Given the description of an element on the screen output the (x, y) to click on. 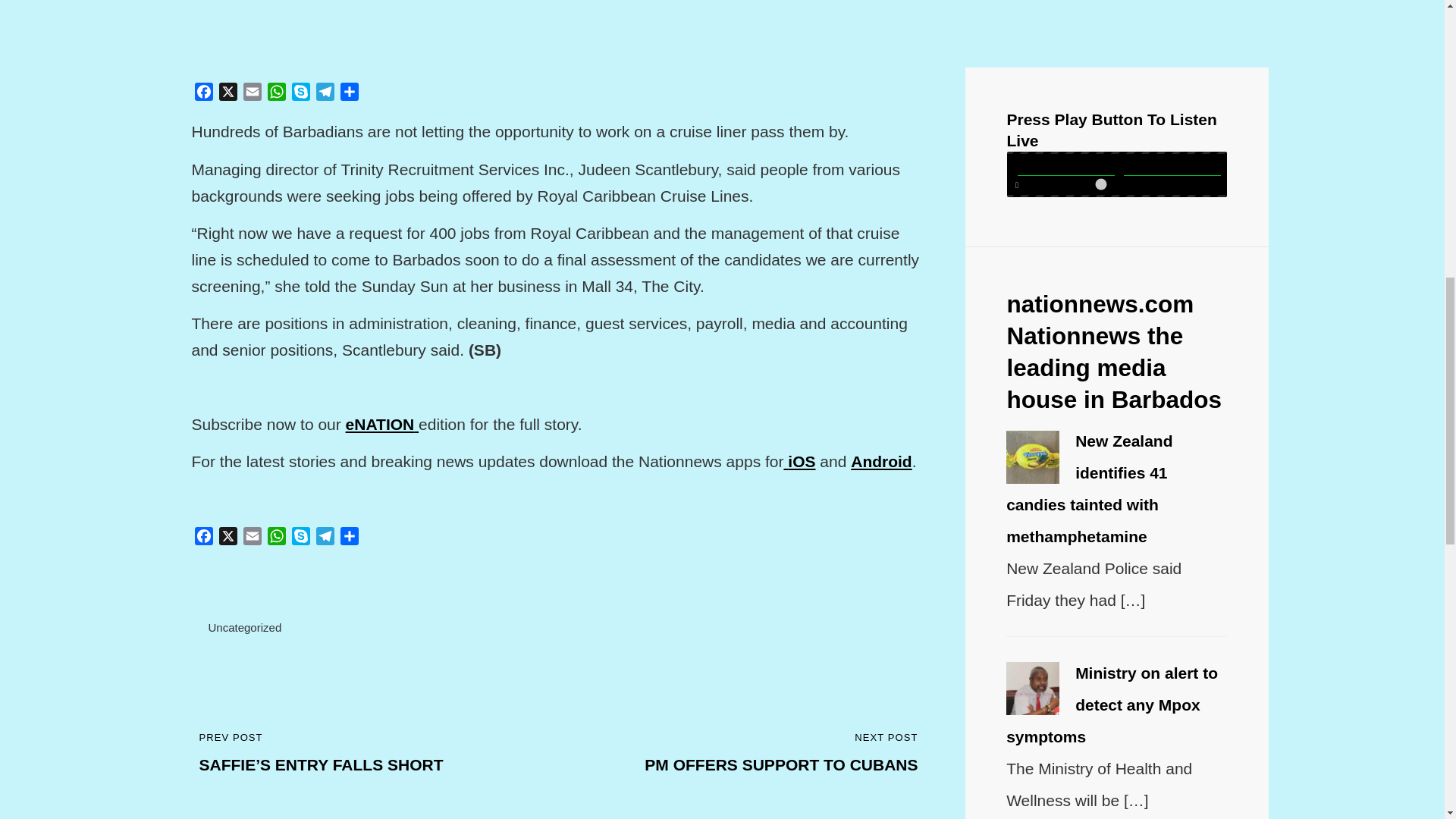
WhatsApp (275, 94)
Share (749, 753)
X (348, 94)
Uncategorized (227, 538)
Email (244, 626)
X (251, 94)
Telegram (227, 94)
Telegram (324, 94)
Share (324, 538)
